Given the description of an element on the screen output the (x, y) to click on. 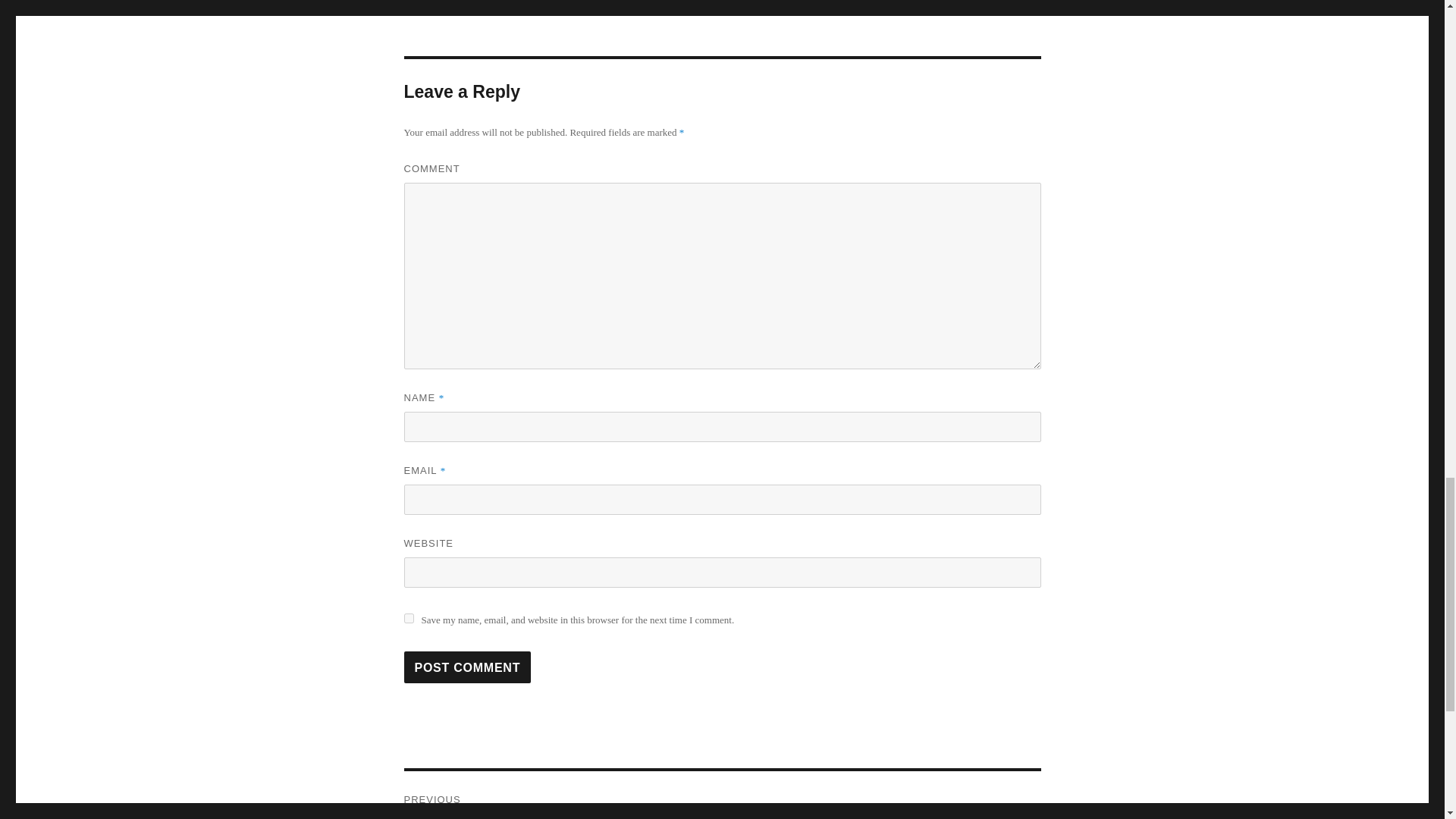
Post Comment (467, 667)
yes (408, 618)
Post Comment (467, 667)
